Given the description of an element on the screen output the (x, y) to click on. 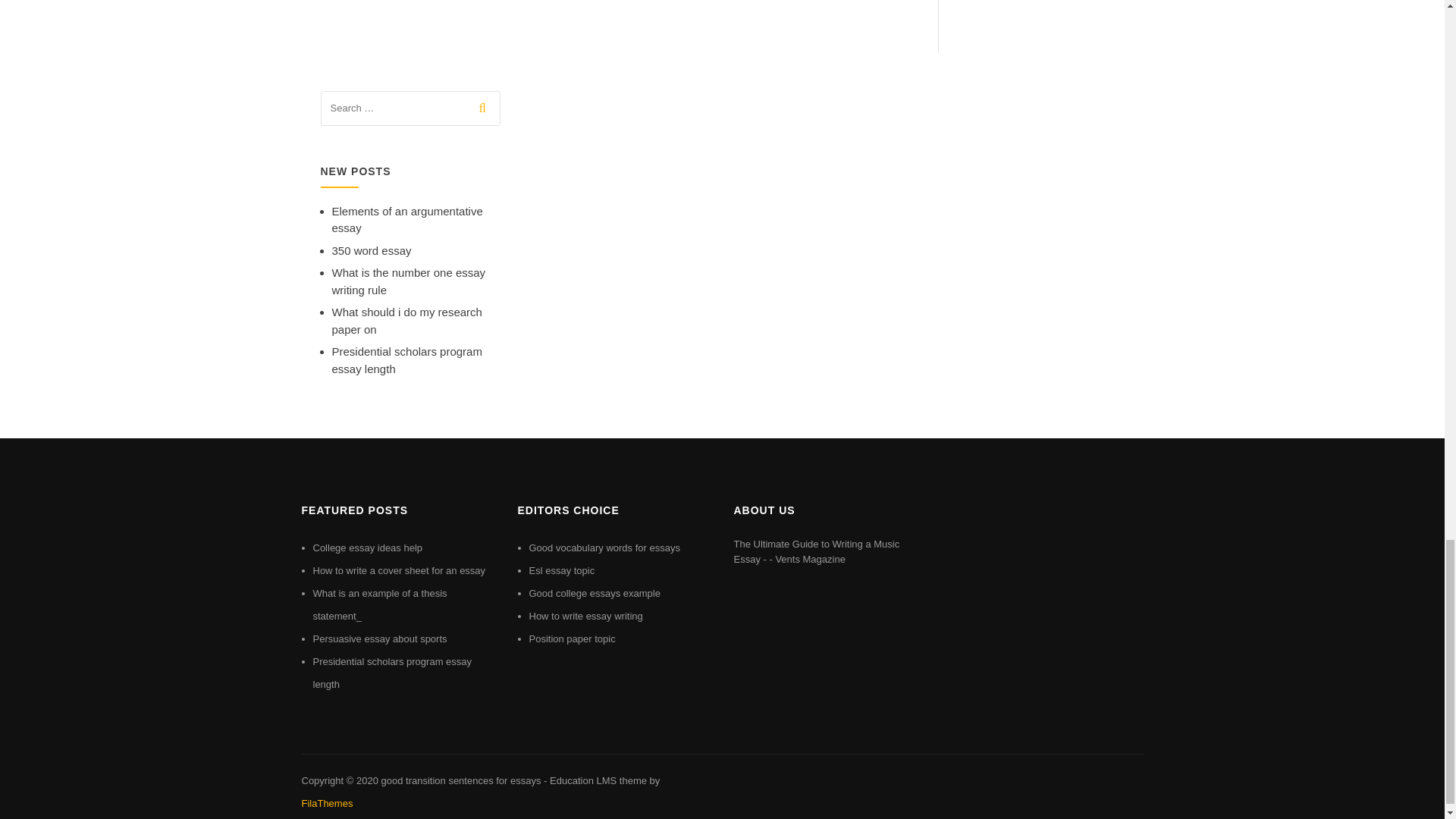
Esl essay topic (562, 570)
Good college essays example (595, 593)
How to write a cover sheet for an essay (398, 570)
What is the number one essay writing rule (408, 281)
Elements of an argumentative essay (407, 219)
Presidential scholars program essay length (406, 359)
Presidential scholars program essay length (392, 673)
good transition sentences for essays (460, 780)
Persuasive essay about sports (379, 638)
good transition sentences for essays (460, 780)
